Given the description of an element on the screen output the (x, y) to click on. 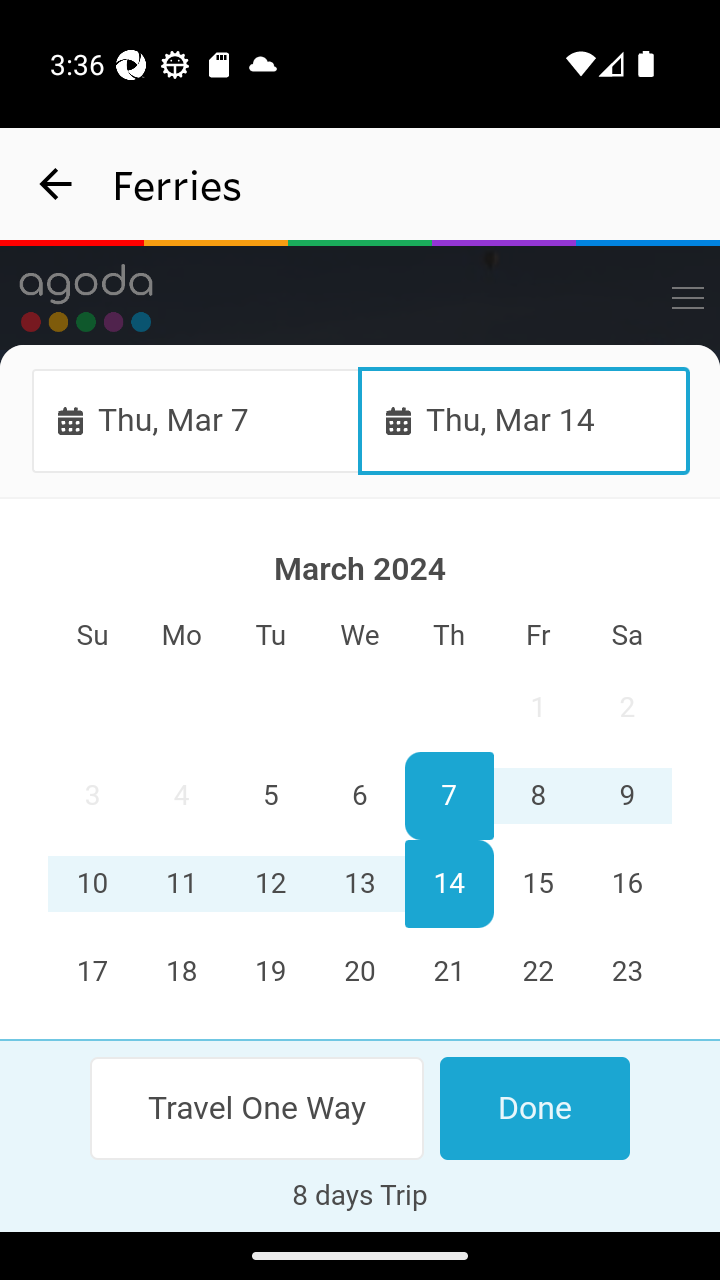
navigation_button (56, 184)
Thu, Mar 7 (195, 420)
Thu, Mar 14 (524, 420)
1 (537, 708)
2 (626, 708)
3 (93, 797)
4 (182, 797)
5 (271, 797)
6 (359, 797)
7 (448, 797)
8 (537, 797)
9 (626, 797)
10 (93, 884)
11 (182, 884)
12 (271, 884)
13 (359, 884)
14 (448, 884)
15 (537, 884)
16 (626, 884)
17 (93, 972)
18 (182, 972)
19 (271, 972)
20 (359, 972)
21 (448, 972)
22 (537, 972)
23 (626, 972)
Travel One Way (258, 1107)
Done (534, 1107)
